Given the description of an element on the screen output the (x, y) to click on. 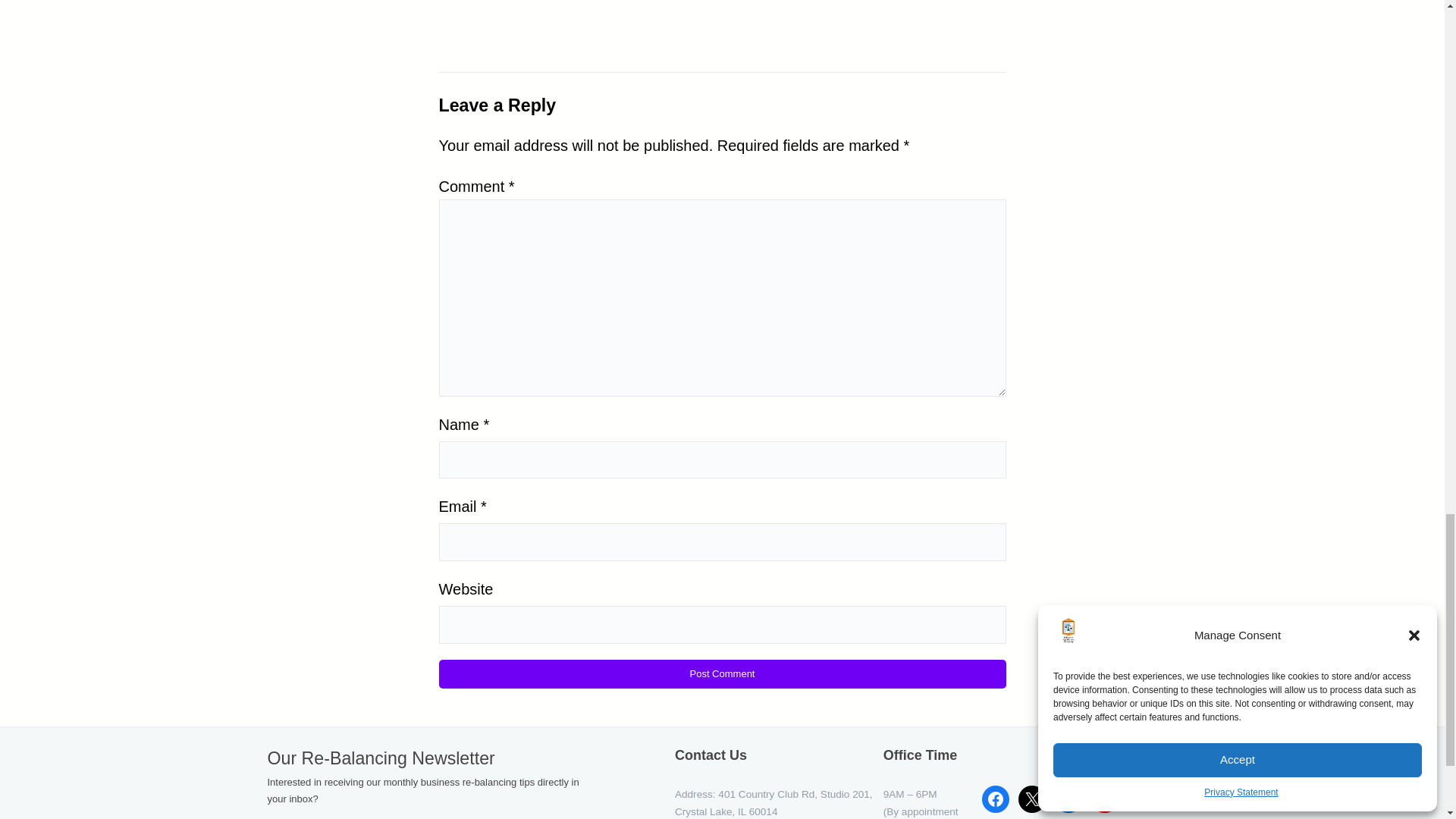
LinkedIn (1067, 799)
Post Comment (722, 674)
Post Comment (722, 674)
Facebook (995, 799)
X (1031, 799)
